Given the description of an element on the screen output the (x, y) to click on. 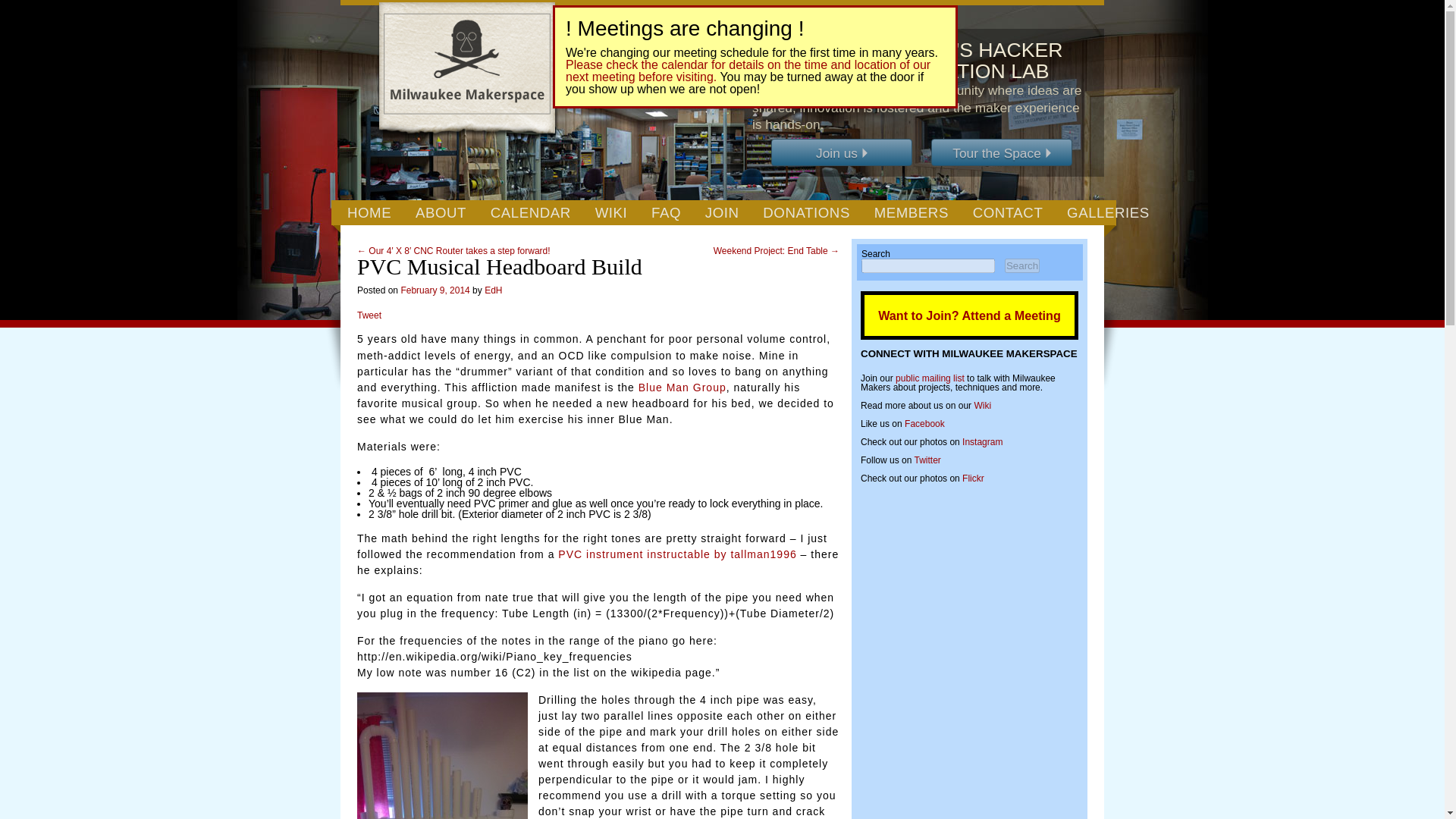
Blue Man Group (682, 387)
PVC instrument instructable by tallman1996 (676, 553)
CALENDAR (530, 212)
DONATIONS (806, 212)
February 9, 2014 (434, 290)
MEMBERS (911, 212)
MakerSpace - Home (468, 70)
View all posts by EdH (493, 290)
CONTACT (1007, 212)
JOIN (722, 212)
EdH (493, 290)
Search (1021, 265)
Join us (841, 152)
FAQ (666, 212)
GALLERIES (1107, 212)
